Given the description of an element on the screen output the (x, y) to click on. 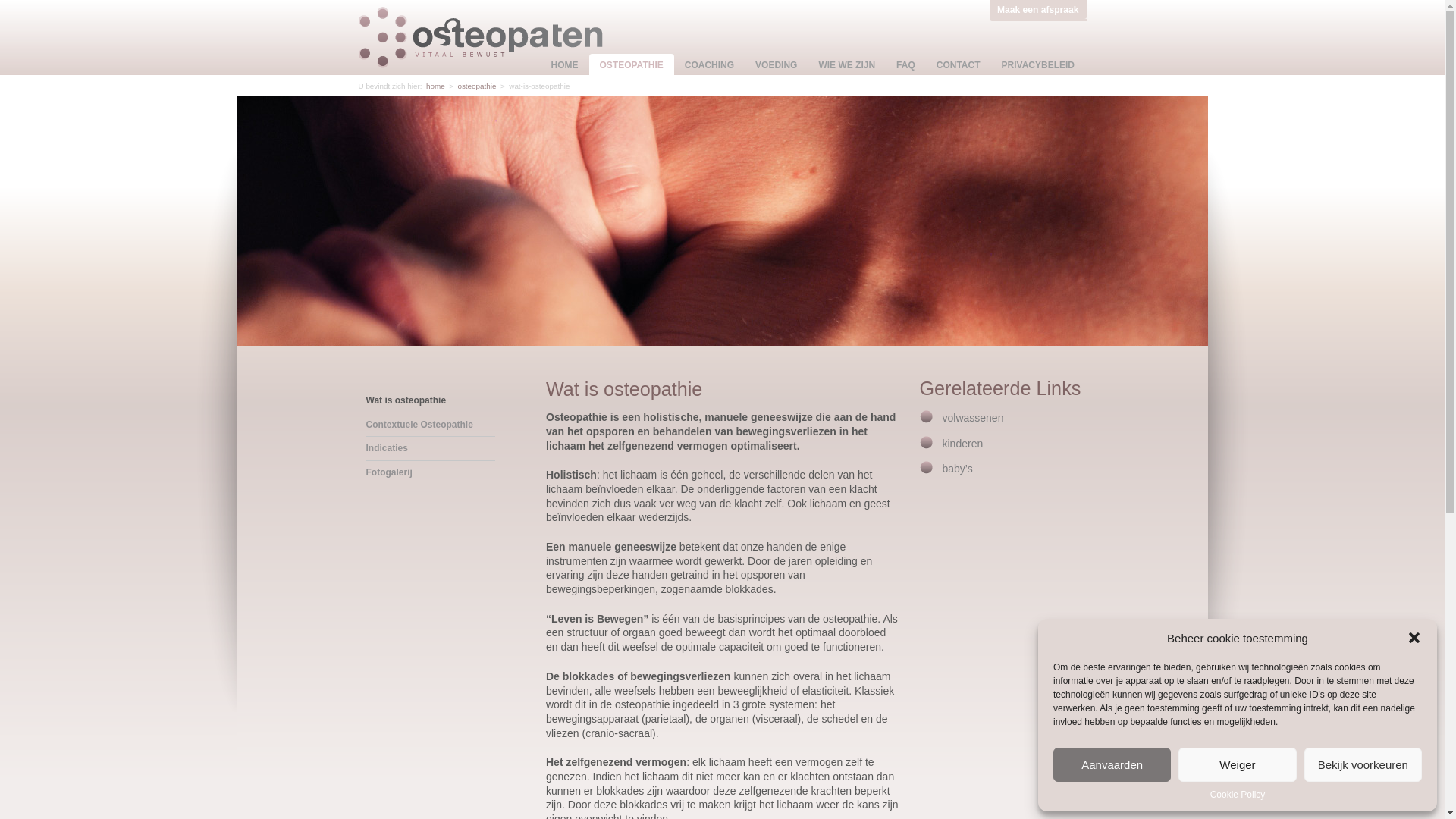
FAQ Element type: text (905, 64)
VOEDING Element type: text (775, 64)
volwassenen Element type: text (1002, 418)
HOME Element type: text (563, 64)
Fotogalerij Element type: text (429, 473)
Bekijk voorkeuren Element type: text (1362, 764)
Cookie Policy Element type: text (1237, 794)
PRIVACYBELEID Element type: text (1038, 64)
Wat is osteopathie Element type: text (429, 401)
COACHING Element type: text (709, 64)
home Element type: text (435, 85)
Indicaties Element type: text (429, 448)
OSTEOPATHIE Element type: text (630, 64)
Aanvaarden Element type: text (1111, 764)
osteopathie Element type: text (476, 85)
kinderen Element type: text (1002, 444)
WIE WE ZIJN Element type: text (846, 64)
Weiger Element type: text (1236, 764)
CONTACT Element type: text (958, 64)
Contextuele Osteopathie Element type: text (429, 425)
